Given the description of an element on the screen output the (x, y) to click on. 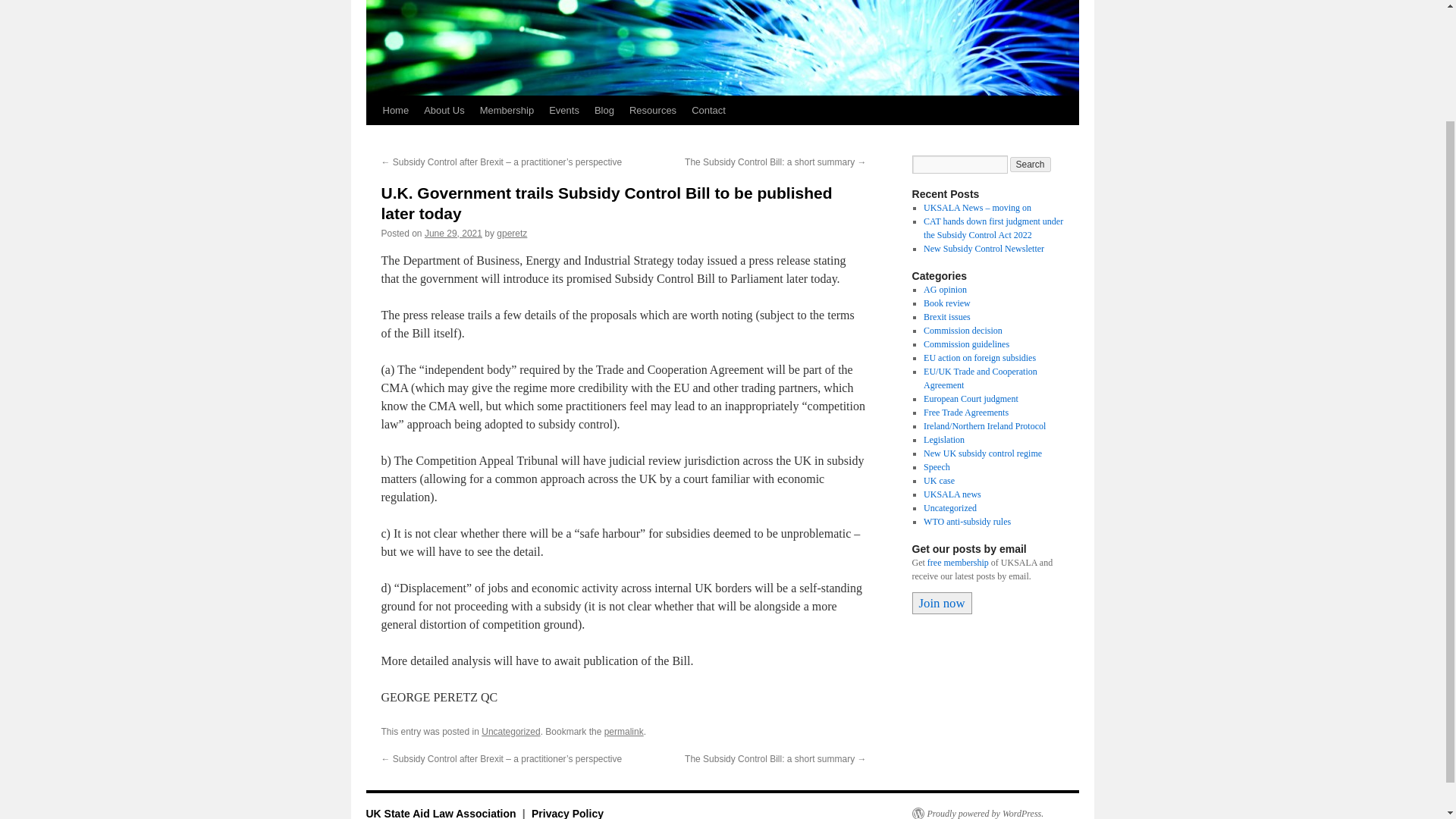
June 29, 2021 (453, 233)
WTO anti-subsidy rules (966, 521)
Commission guidelines (966, 344)
Search (1030, 164)
Search (1030, 164)
About Us (443, 110)
New Subsidy Control Newsletter (983, 248)
Legislation (943, 439)
Speech (936, 466)
Blog (603, 110)
free membership (957, 562)
Events (563, 110)
Book review (947, 303)
UK case (939, 480)
Uncategorized (510, 731)
